Given the description of an element on the screen output the (x, y) to click on. 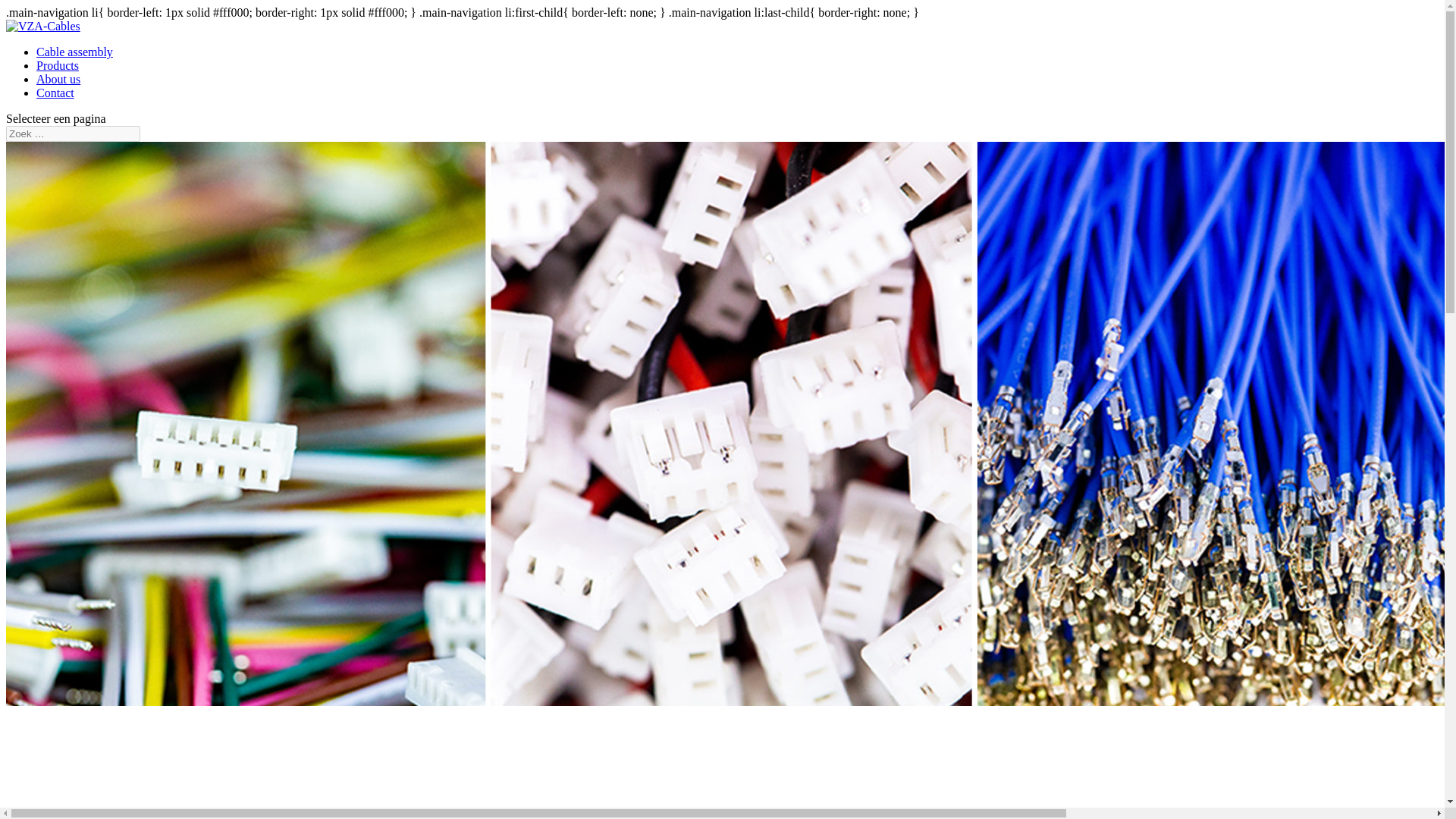
Products (57, 65)
Contact (55, 92)
Cable assembly (74, 51)
Zoek naar: (72, 133)
About us (58, 78)
